Given the description of an element on the screen output the (x, y) to click on. 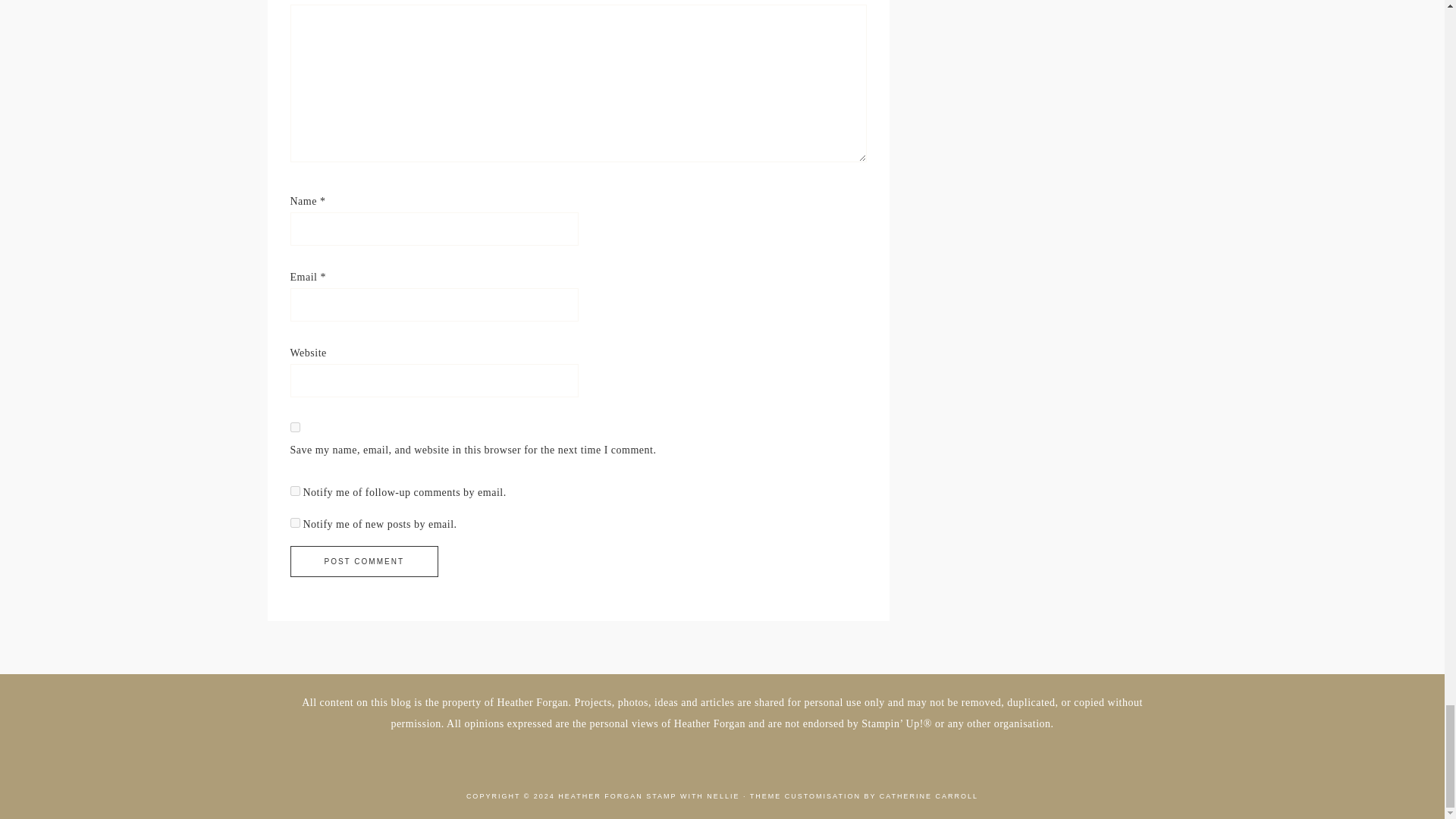
subscribe (294, 491)
yes (294, 427)
Post Comment (363, 561)
subscribe (294, 522)
